Given the description of an element on the screen output the (x, y) to click on. 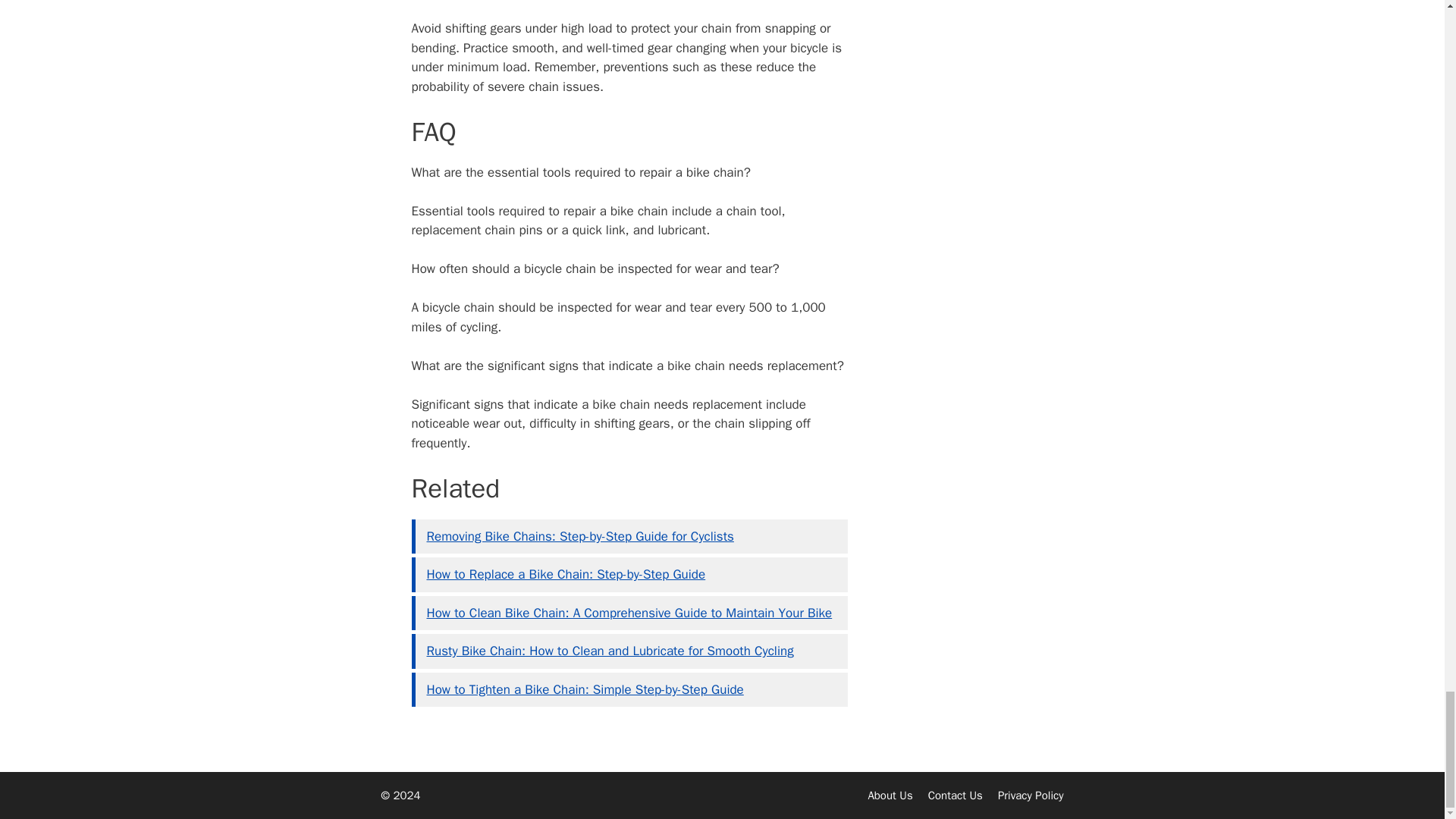
How to Tighten a Bike Chain: Simple Step-by-Step Guide (584, 689)
Contact Us (955, 795)
Removing Bike Chains: Step-by-Step Guide for Cyclists (579, 536)
Removing Bike Chains: Step-by-Step Guide for Cyclists (579, 536)
About Us (889, 795)
How to Tighten a Bike Chain: Simple Step-by-Step Guide (584, 689)
How to Replace a Bike Chain: Step-by-Step Guide (565, 574)
